Given the description of an element on the screen output the (x, y) to click on. 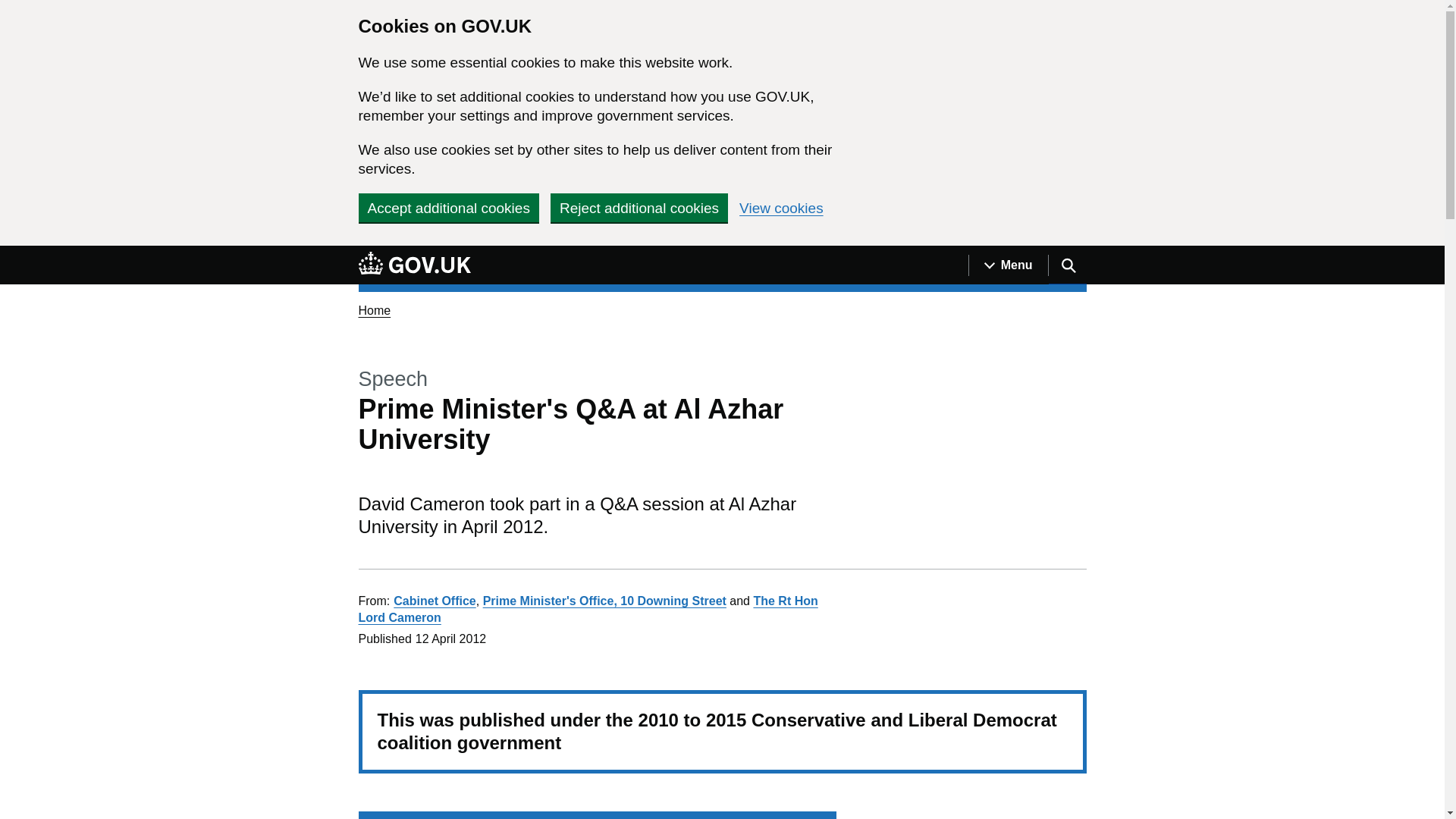
Reject additional cookies (639, 207)
Search GOV.UK (1067, 265)
GOV.UK (414, 262)
Cabinet Office (434, 600)
Skip to main content (11, 254)
GOV.UK (414, 264)
The Rt Hon Lord Cameron (587, 609)
View cookies (781, 207)
Menu (1008, 265)
Prime Minister's Office, 10 Downing Street (604, 600)
Home (374, 309)
Accept additional cookies (448, 207)
